Given the description of an element on the screen output the (x, y) to click on. 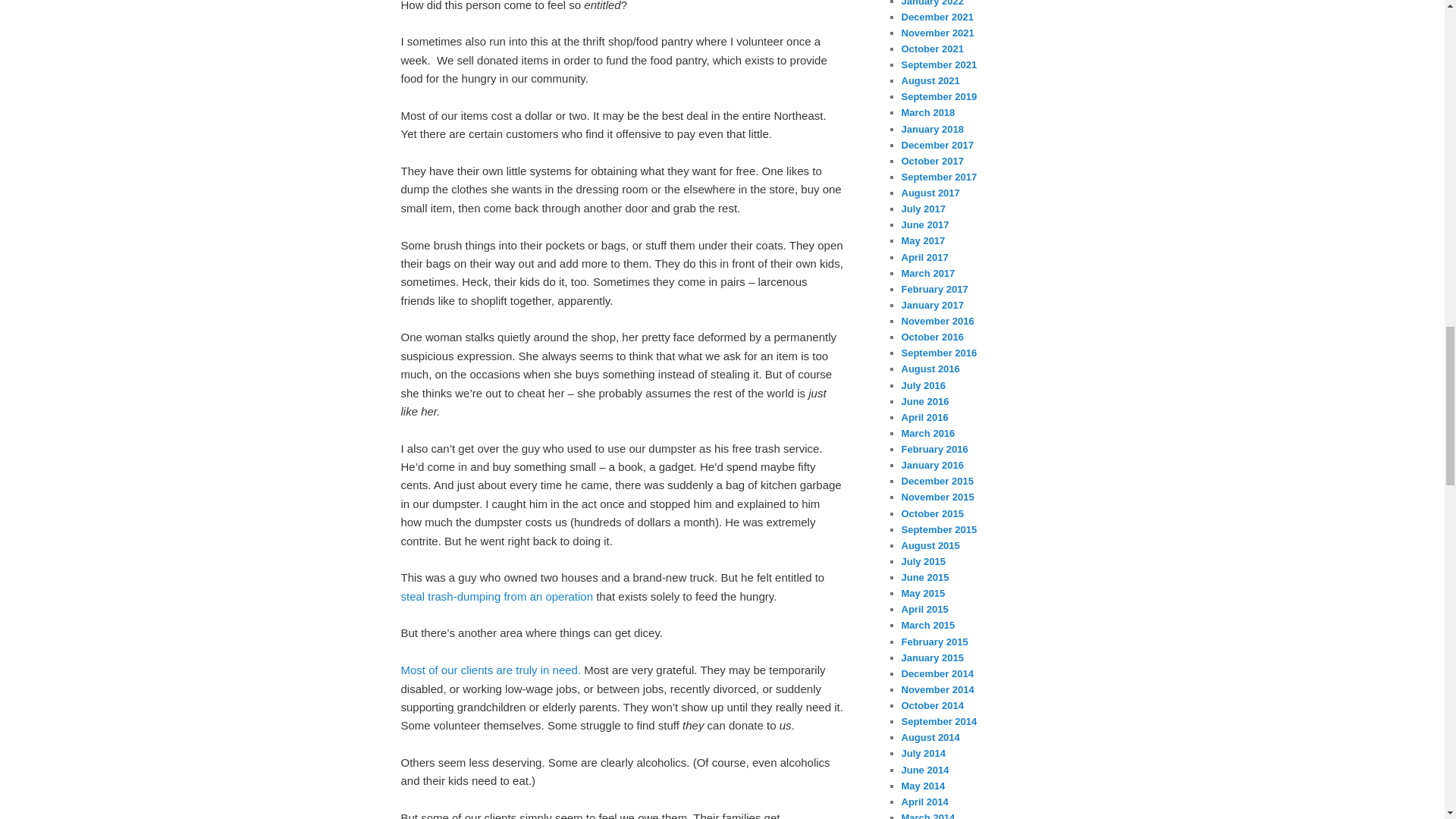
Feeding America hunger statistics (491, 669)
steal trash-dumping from an operation (496, 595)
Illegal Dumping (496, 595)
